Given the description of an element on the screen output the (x, y) to click on. 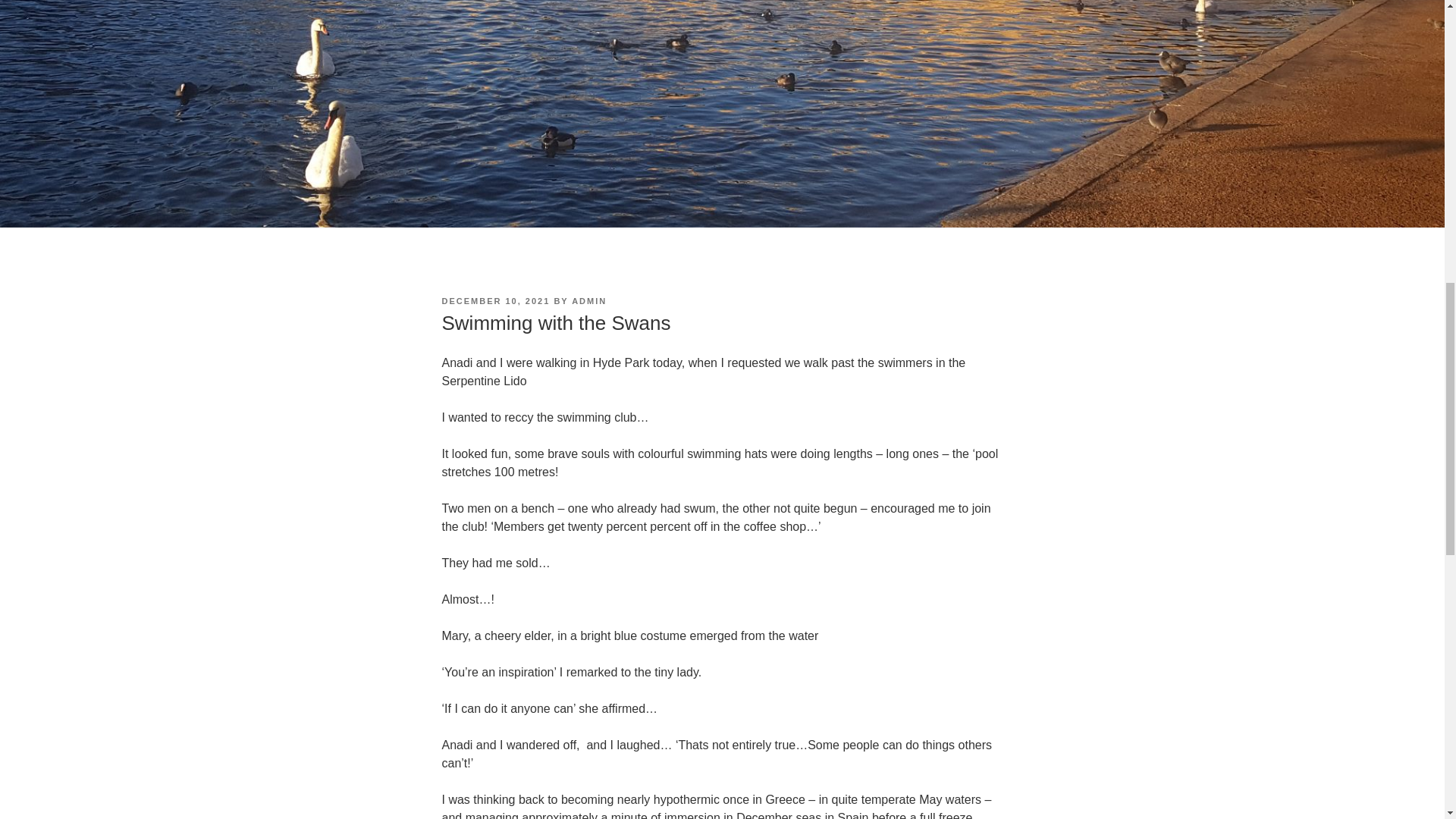
ADMIN (589, 300)
DECEMBER 10, 2021 (495, 300)
